Given the description of an element on the screen output the (x, y) to click on. 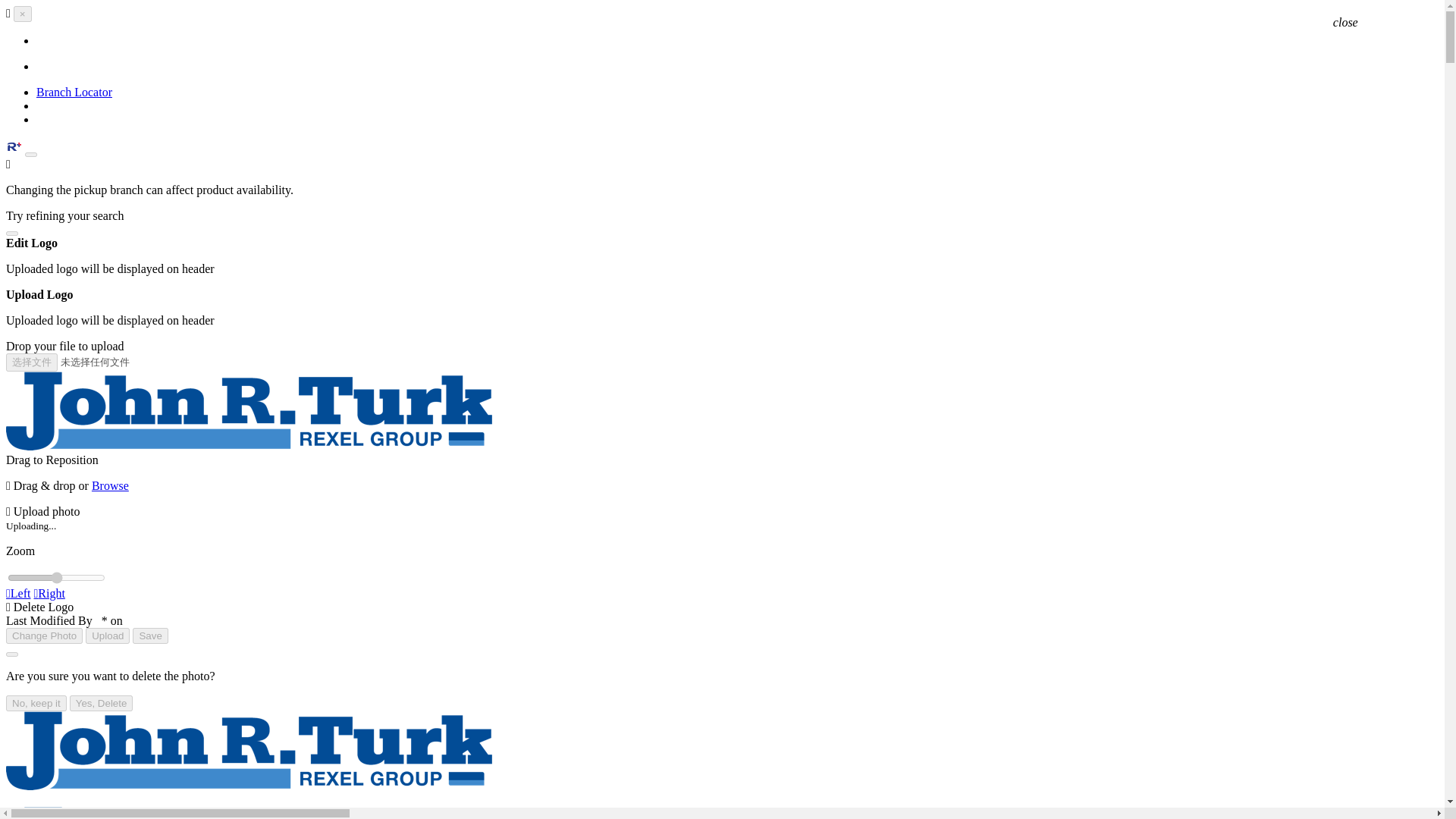
John R Turk Home (249, 750)
1.05 (55, 577)
No, keep it (35, 703)
Yes, Delete (101, 703)
Browse (110, 485)
John R Turk Home (249, 410)
John R Turk Home (249, 812)
Change Photo (43, 635)
Branch Locator (74, 91)
Branch Locator (74, 91)
Save (149, 635)
Upload (107, 635)
